Given the description of an element on the screen output the (x, y) to click on. 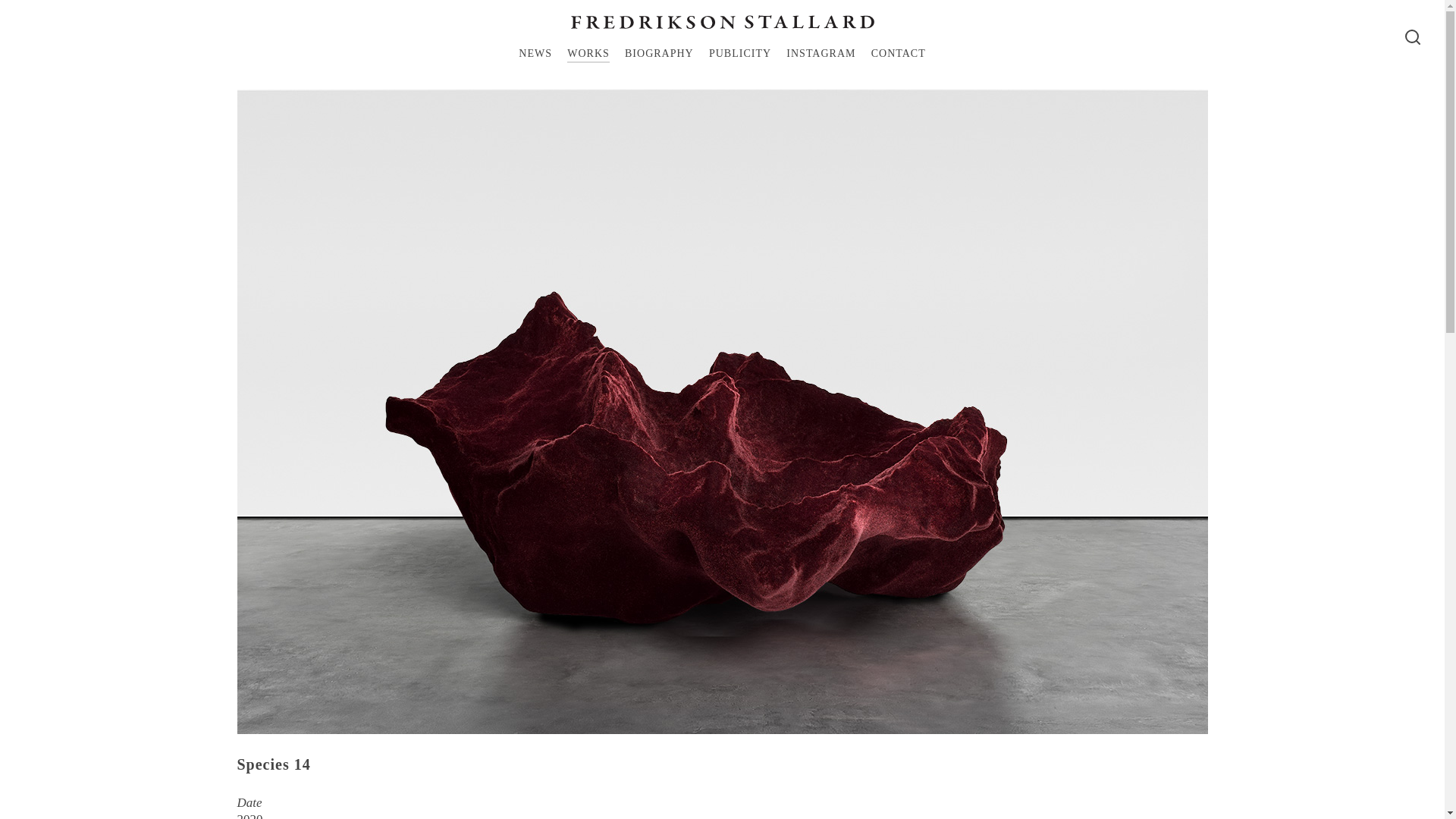
CONTACT (898, 55)
NEWS (534, 55)
WORKS (588, 55)
INSTAGRAM (821, 55)
PUBLICITY (740, 55)
BIOGRAPHY (659, 55)
